Given the description of an element on the screen output the (x, y) to click on. 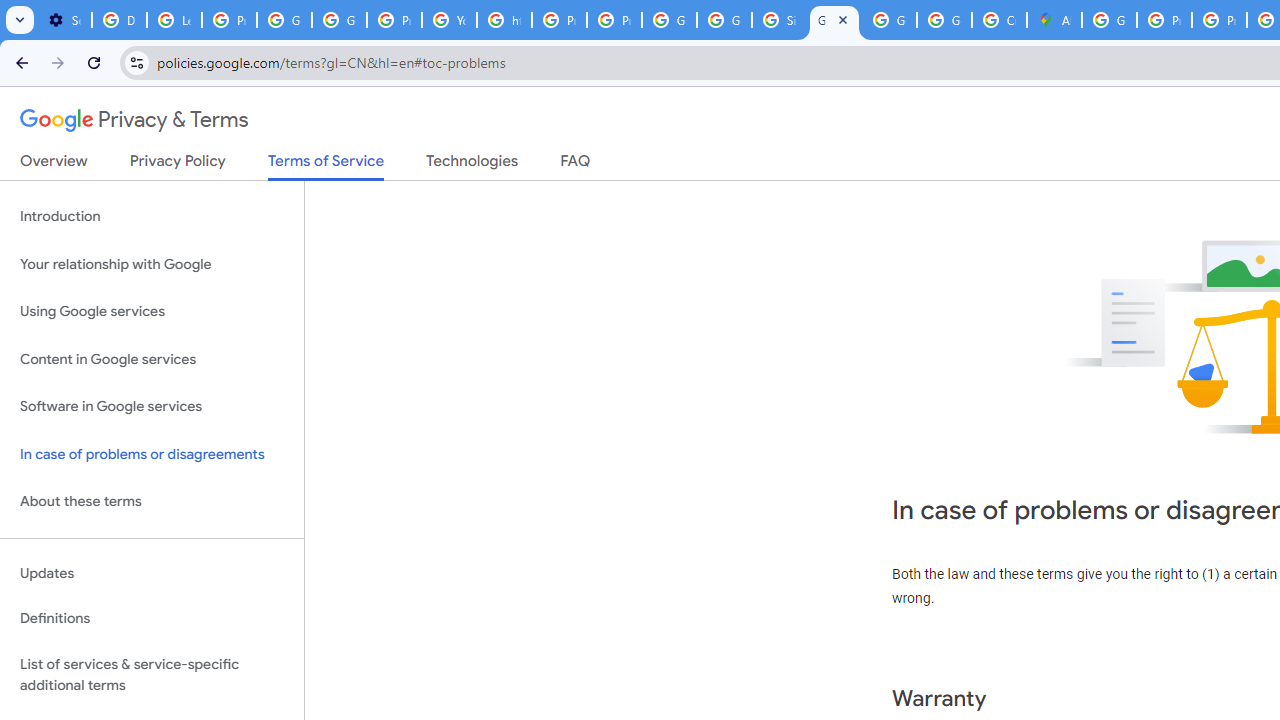
Software in Google services (152, 407)
YouTube (449, 20)
Your relationship with Google (152, 263)
Delete photos & videos - Computer - Google Photos Help (119, 20)
Create your Google Account (998, 20)
Content in Google services (152, 358)
